Given the description of an element on the screen output the (x, y) to click on. 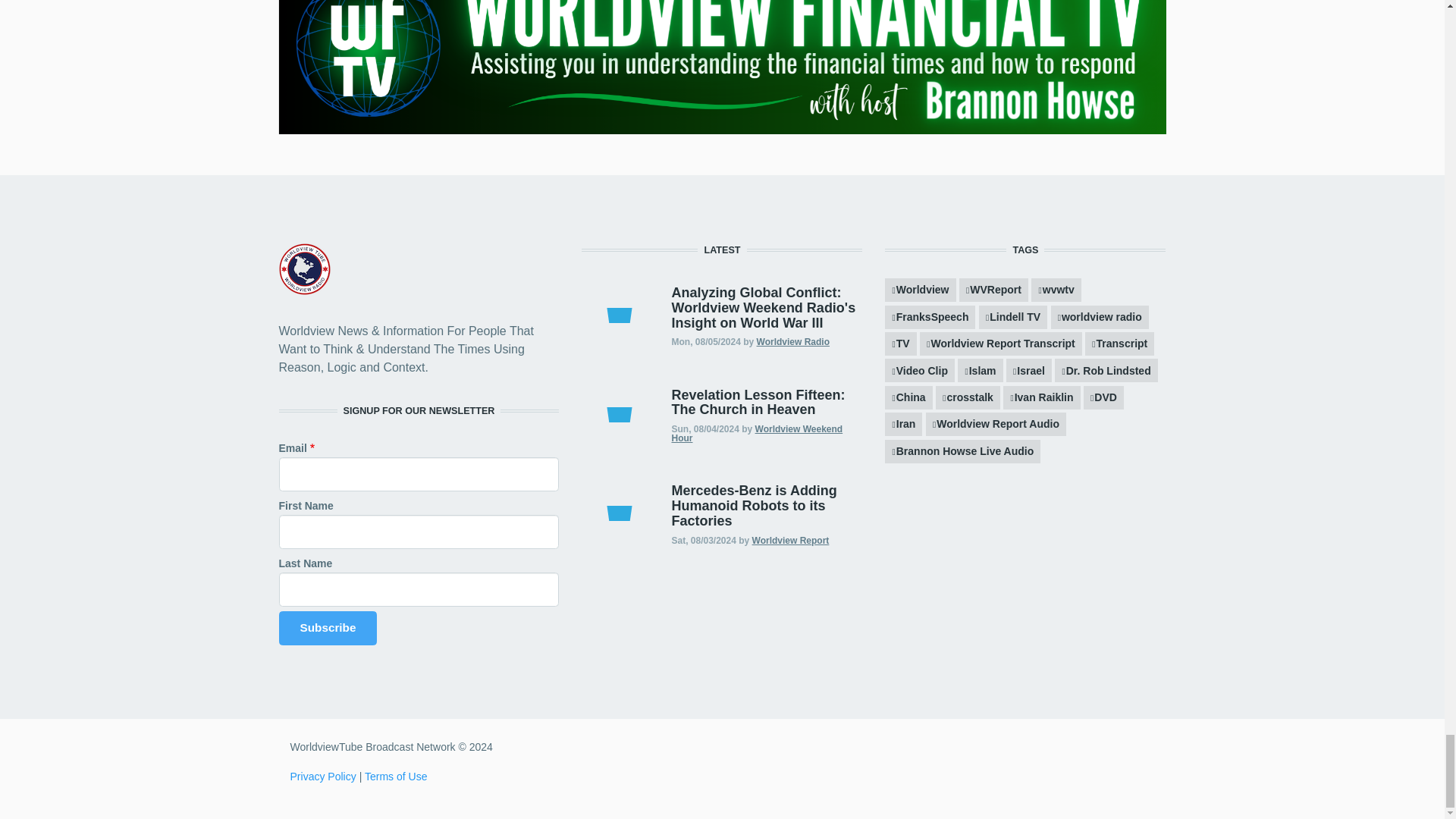
Subscribe (328, 627)
